Given the description of an element on the screen output the (x, y) to click on. 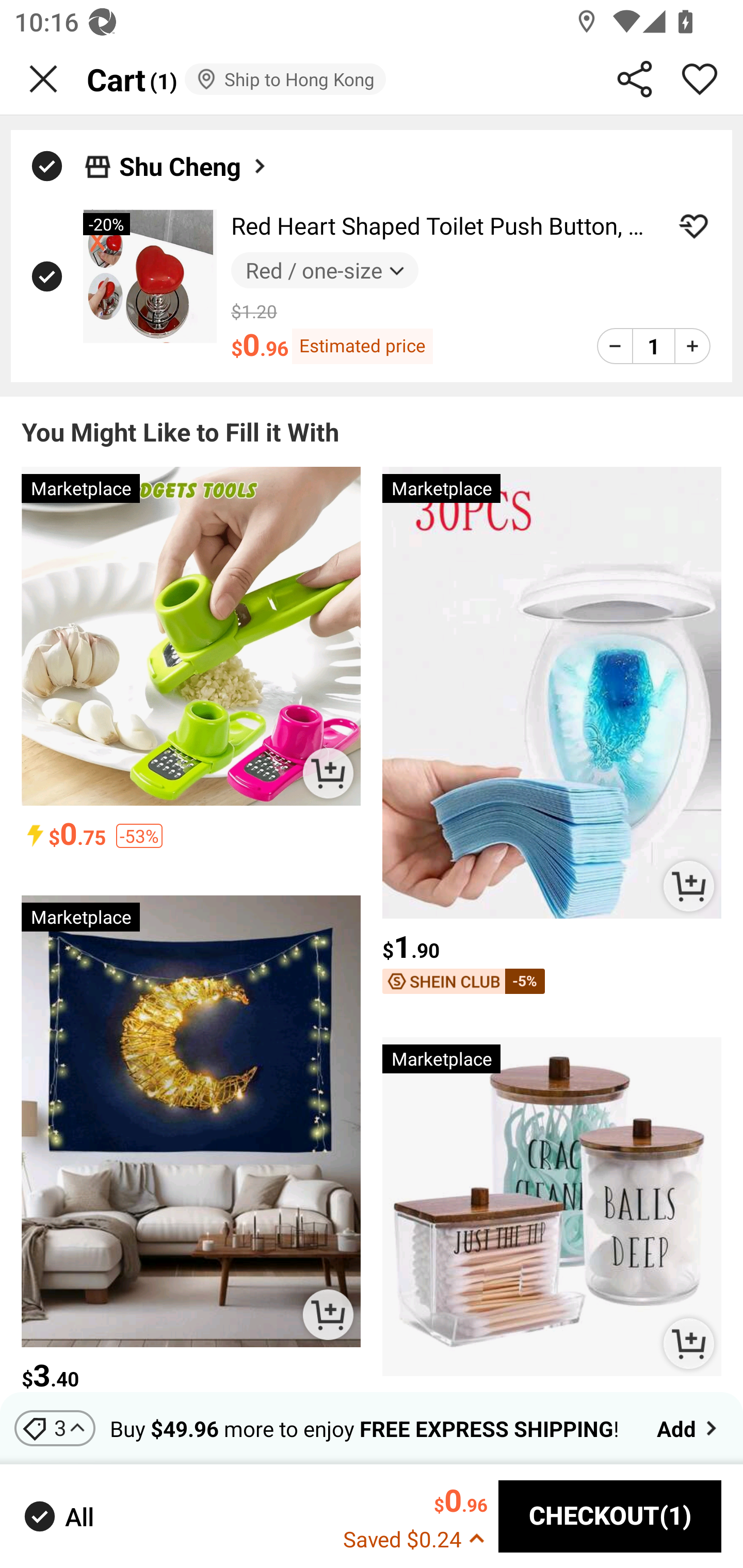
BACK (43, 78)
Wishlist (699, 78)
Share (634, 79)
Ship to Hong Kong (285, 78)
Shu Cheng (193, 165)
ADD TO WISHLIST (693, 226)
Red / one-size (324, 270)
product quantity minus 1 (614, 345)
1 edit product quantity (653, 345)
product quantity add 1 (692, 345)
ADD TO CART (327, 772)
ADD TO CART (688, 885)
ADD TO CART (327, 1314)
ADD TO CART (688, 1343)
3 (54, 1428)
Add (688, 1428)
CHECKOUT(1) (609, 1516)
All (57, 1517)
